Given the description of an element on the screen output the (x, y) to click on. 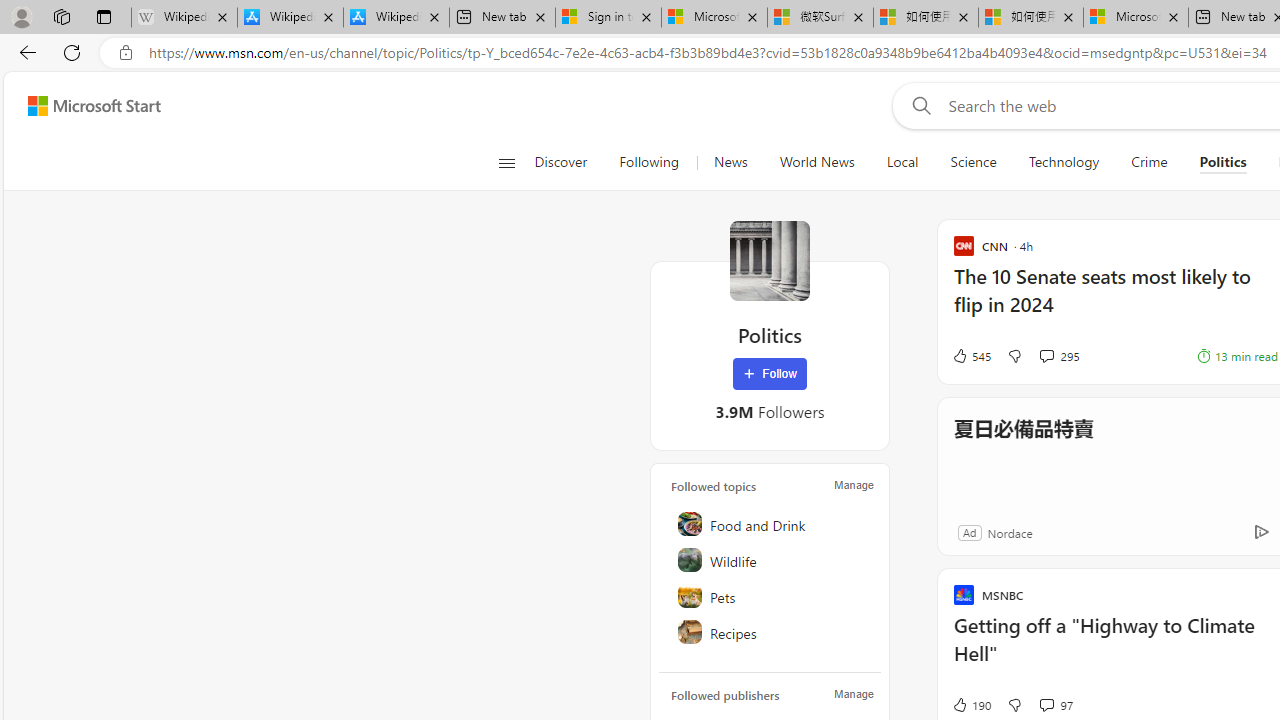
Pets (771, 596)
View comments 97 Comment (1055, 704)
View comments 295 Comment (1046, 355)
Recipes (771, 632)
